Given the description of an element on the screen output the (x, y) to click on. 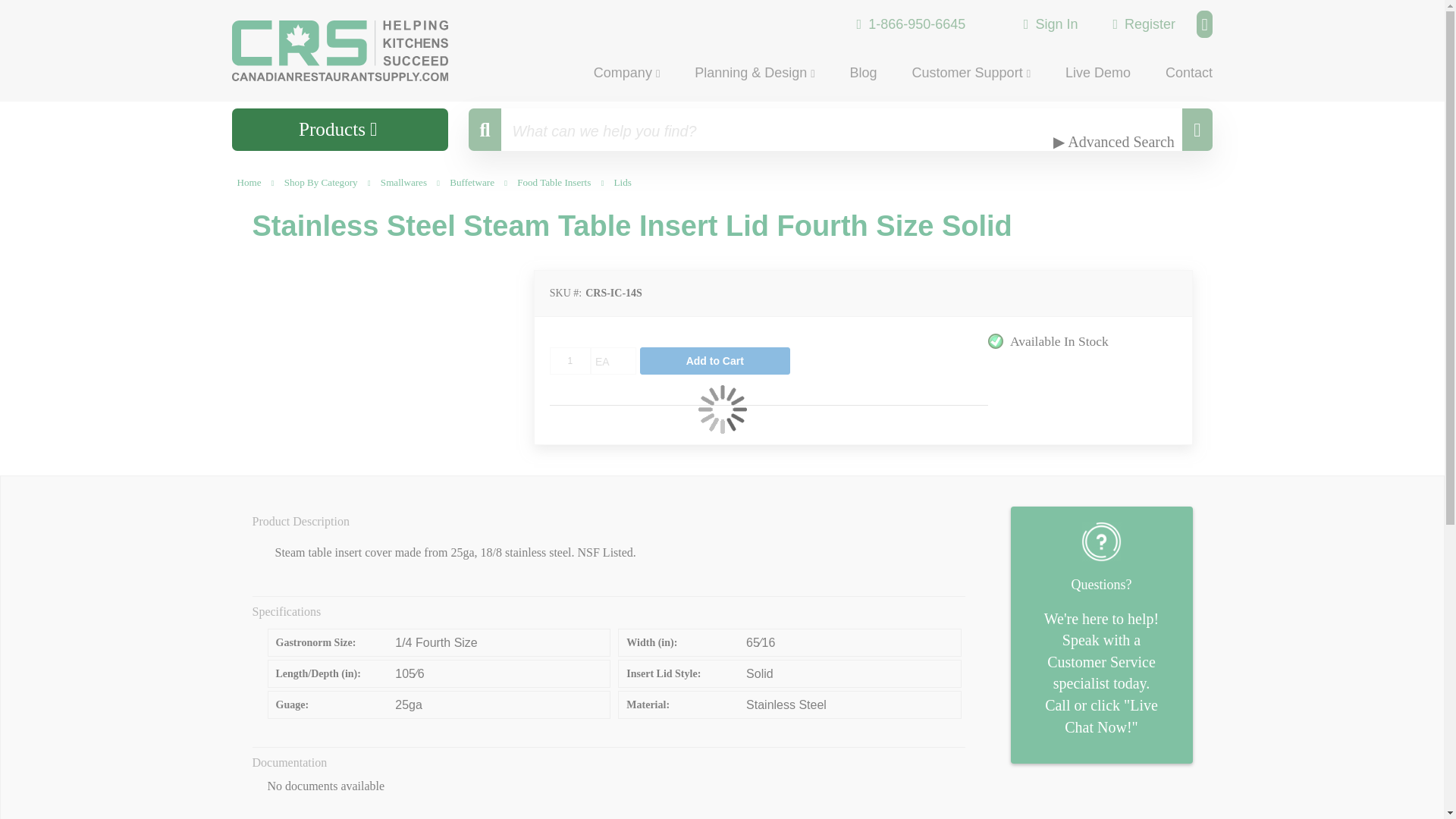
CRS Helping Kitchens Succeed (339, 50)
1-866-950-6645 (911, 23)
Create New Account (1144, 23)
Company (625, 72)
Add to Cart (715, 360)
Customer Support (970, 72)
CRS Helping Kitchens Succeed (360, 50)
Blog (863, 71)
Live Demo (1097, 71)
Enter quantity to buy (570, 360)
